Given the description of an element on the screen output the (x, y) to click on. 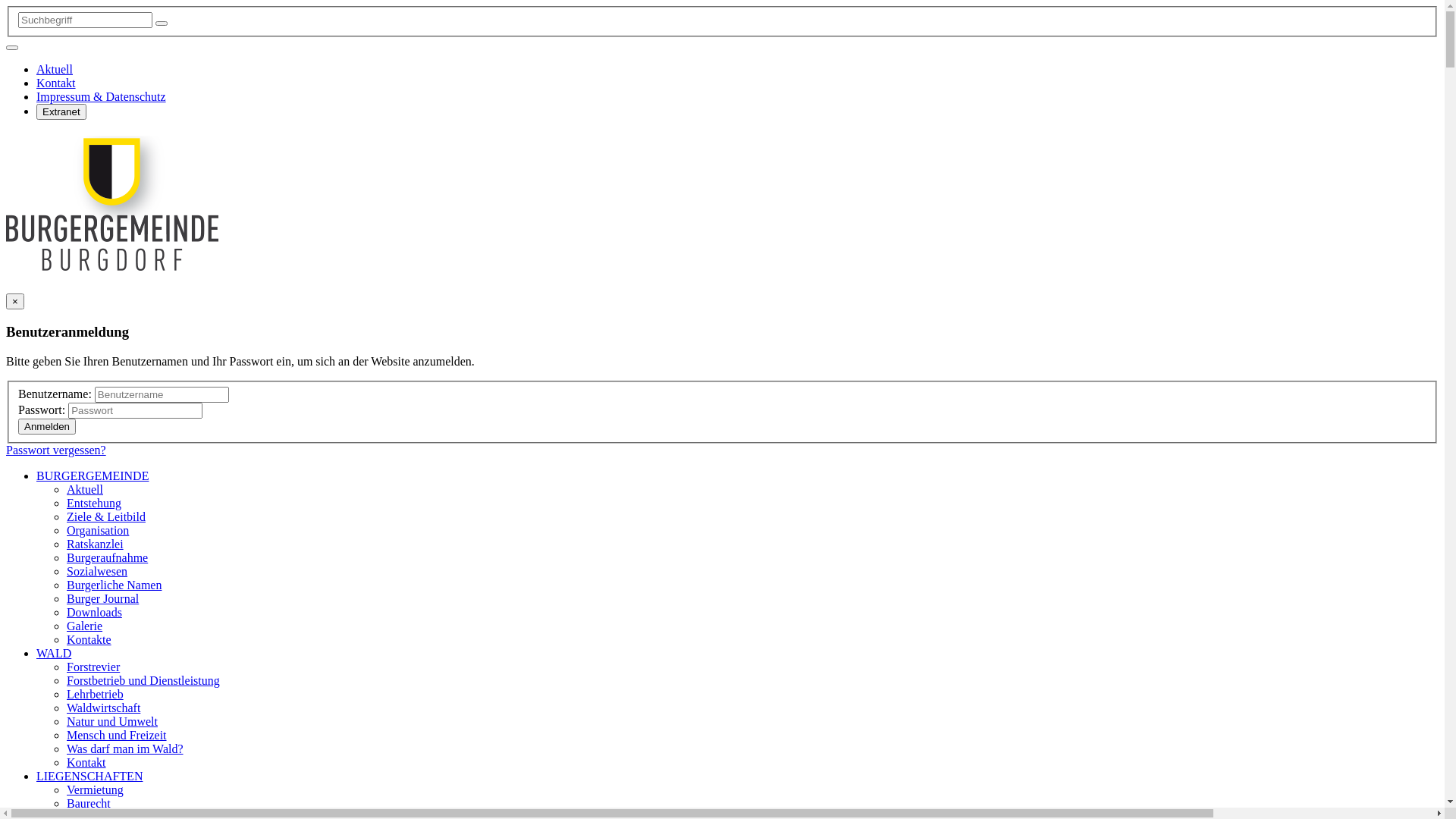
Lehrbetrieb Element type: text (94, 693)
Kontakt Element type: text (86, 761)
Burgeraufnahme Element type: text (106, 556)
Impressum & Datenschutz Element type: text (101, 96)
Ziele & Leitbild Element type: text (105, 515)
Baurecht Element type: text (88, 802)
Ratskanzlei Element type: text (94, 542)
Passwort vergessen? Element type: text (56, 448)
Extranet Element type: text (61, 111)
BURGERGEMEINDE Element type: text (92, 474)
Galerie Element type: text (84, 624)
Burgerliche Namen Element type: text (113, 583)
WALD Element type: text (53, 652)
Aktuell Element type: text (84, 488)
Burger Journal Element type: text (102, 597)
Was darf man im Wald? Element type: text (124, 747)
Sozialwesen Element type: text (96, 570)
Downloads Element type: text (94, 611)
Anmelden Element type: text (46, 426)
Natur und Umwelt Element type: text (111, 720)
Vermietung Element type: text (94, 788)
Kontakte Element type: text (88, 638)
Aktuell Element type: text (54, 68)
Waldwirtschaft Element type: text (103, 706)
Forstrevier Element type: text (92, 665)
LIEGENSCHAFTEN Element type: text (89, 774)
zur Startseite Element type: hover (112, 262)
Organisation Element type: text (97, 529)
Forstbetrieb und Dienstleistung Element type: text (142, 679)
Mensch und Freizeit Element type: text (116, 734)
Entstehung Element type: text (93, 501)
Kontakt Element type: text (55, 82)
